Given the description of an element on the screen output the (x, y) to click on. 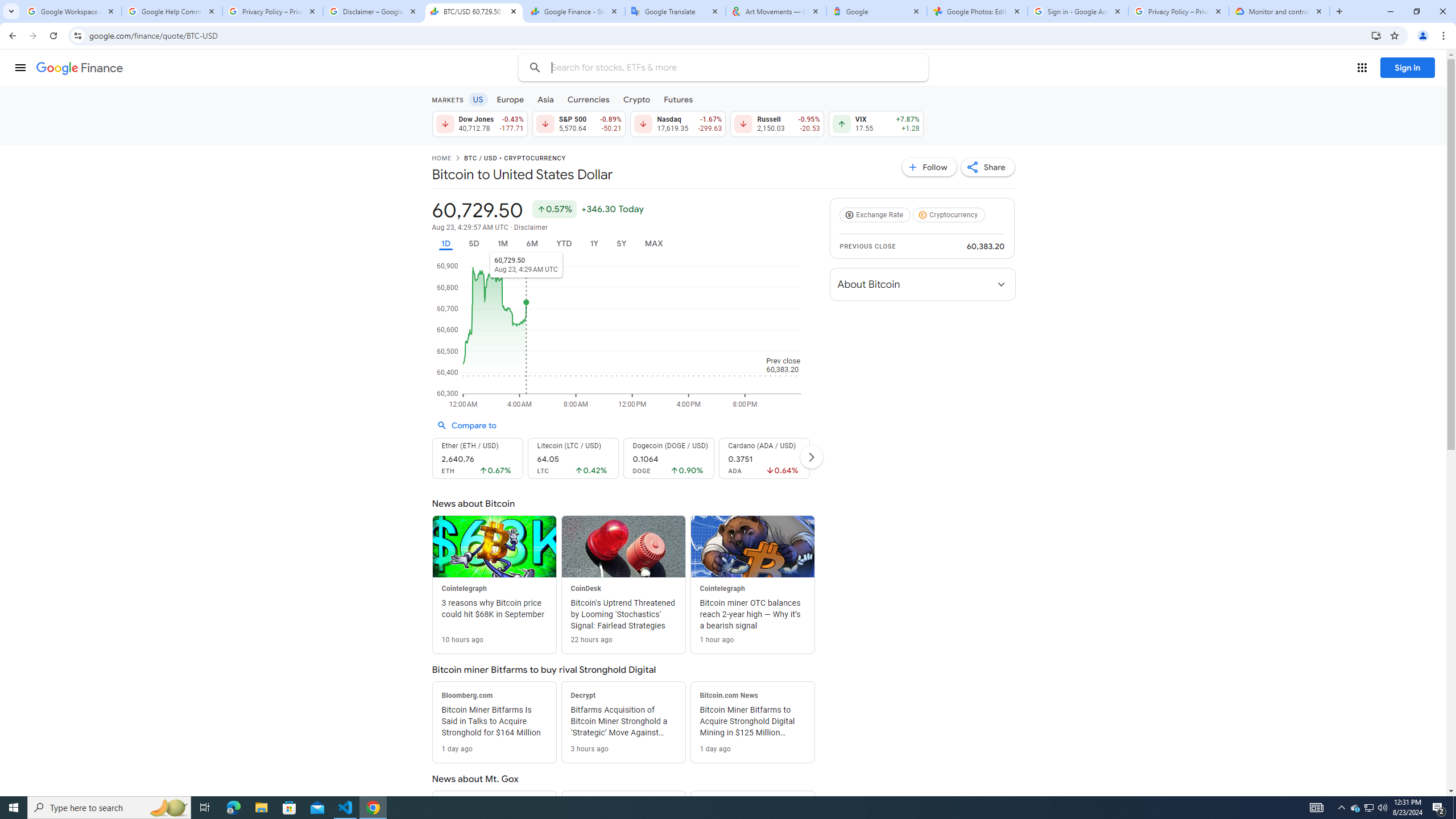
5Y (621, 243)
Search for stocks, ETFs & more (724, 67)
Crypto (636, 99)
Futures (678, 99)
Cryptocurrency (950, 214)
1Y (594, 243)
Europe (510, 99)
Google Translate (675, 11)
